Given the description of an element on the screen output the (x, y) to click on. 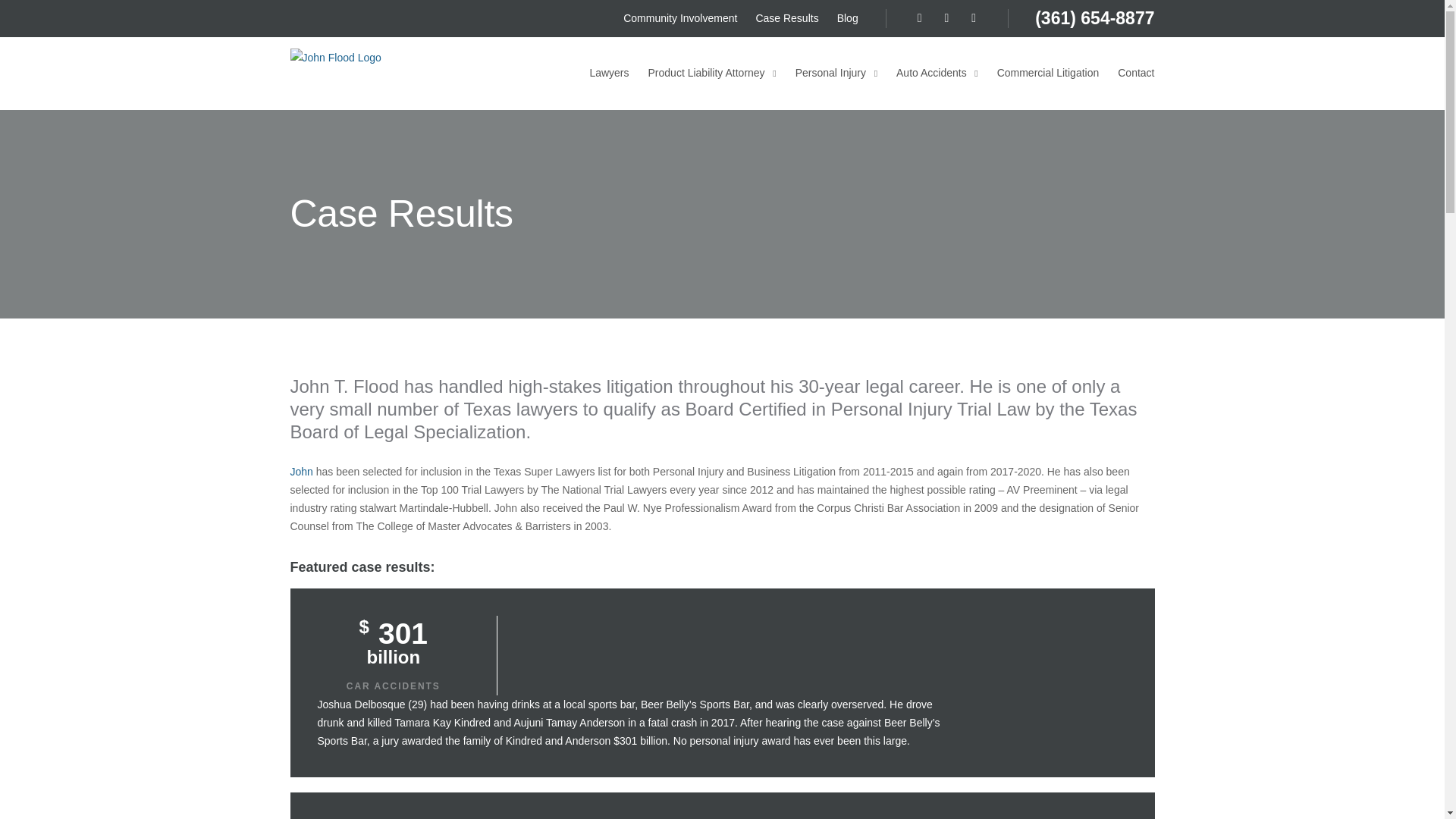
Blog (848, 18)
Case Results (786, 18)
Product Liability Attorney (711, 72)
Auto Accidents (937, 72)
Personal Injury (835, 72)
Community Involvement (679, 18)
654-8877 (1114, 17)
John Flood Trial Lawyers (370, 73)
Commercial Litigation (1048, 72)
